Given the description of an element on the screen output the (x, y) to click on. 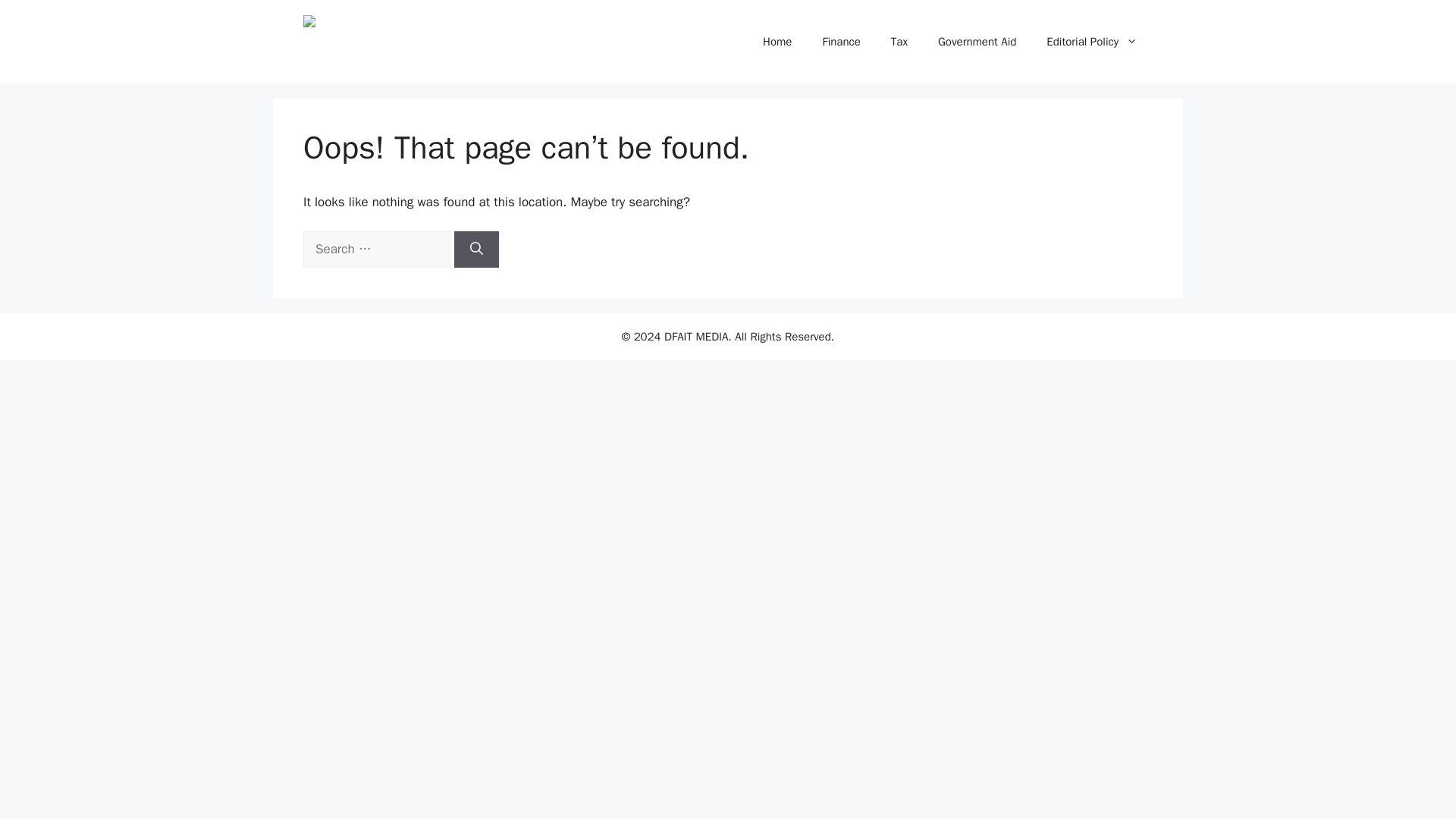
Government Aid (976, 41)
Search for: (375, 248)
Home (777, 41)
Tax (899, 41)
Finance (840, 41)
Editorial Policy (1091, 41)
